Given the description of an element on the screen output the (x, y) to click on. 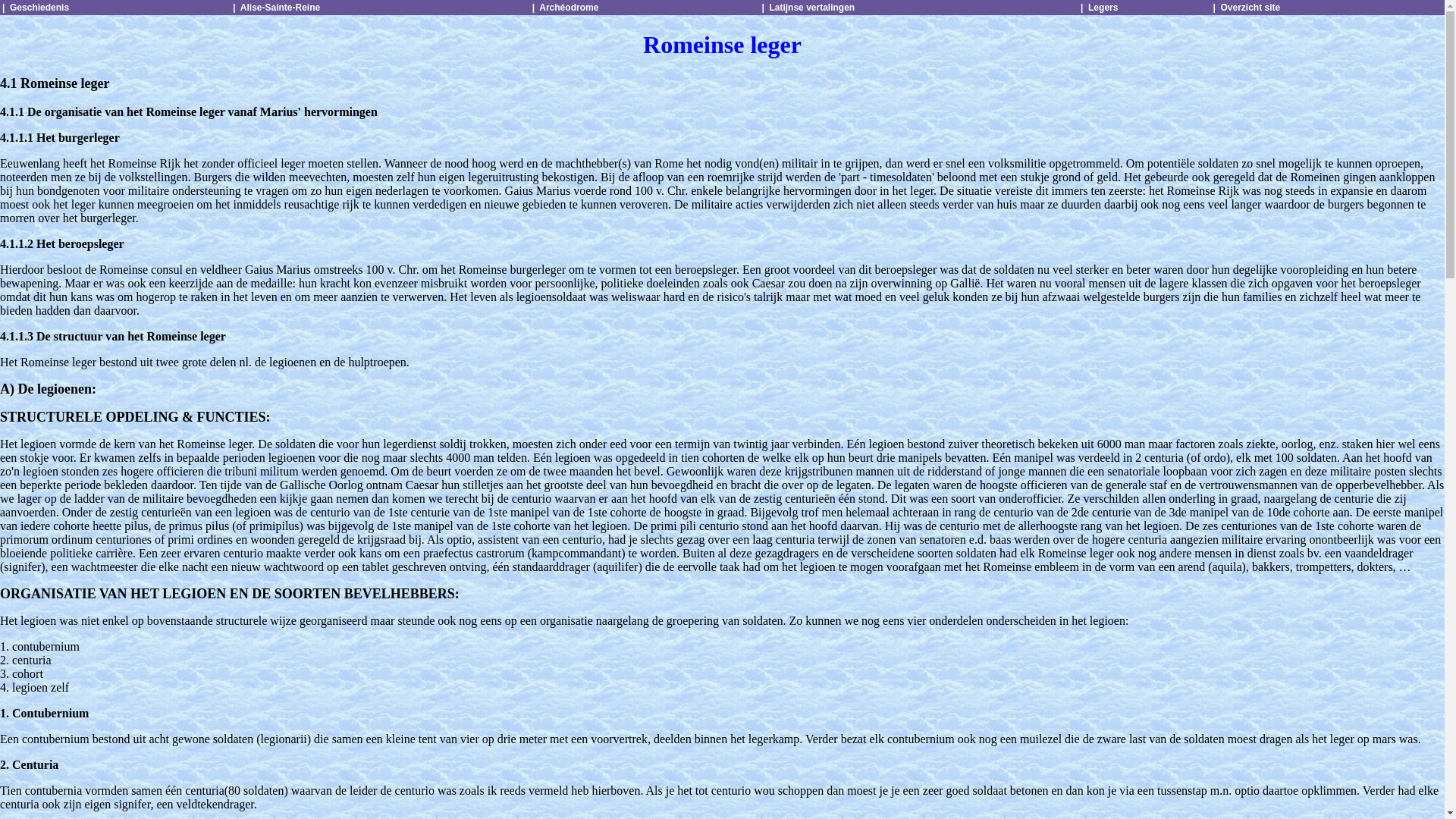
|  Alise-Sainte-Reine Element type: text (276, 7)
|  Overzicht site Element type: text (1246, 7)
|  Legers Element type: text (1098, 7)
|  Latijnse vertalingen Element type: text (807, 7)
|  Geschiedenis Element type: text (35, 7)
